Given the description of an element on the screen output the (x, y) to click on. 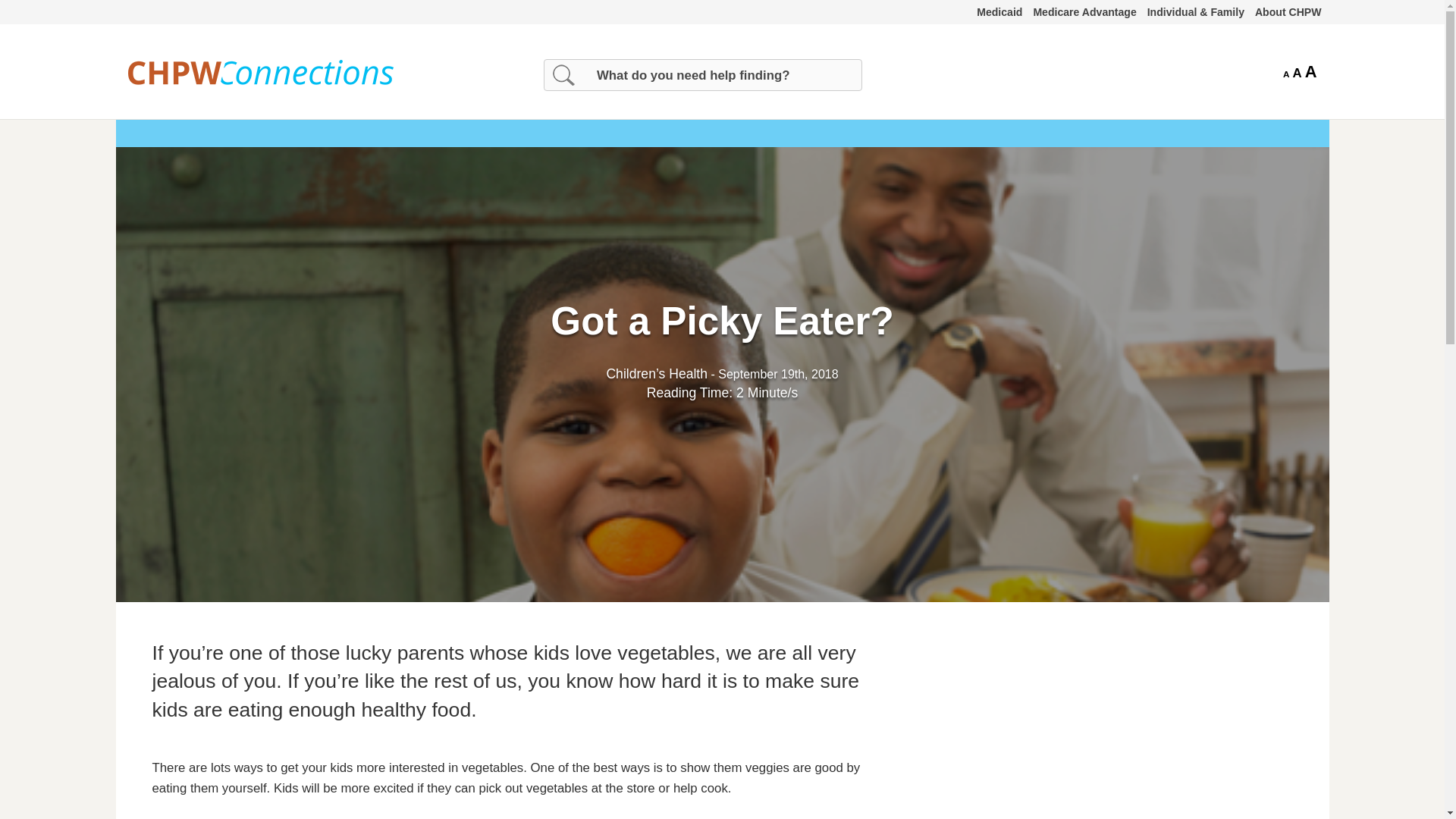
search (75, 13)
About CHPW (1288, 30)
Medicare Advantage (1083, 30)
Medicaid (999, 30)
